Given the description of an element on the screen output the (x, y) to click on. 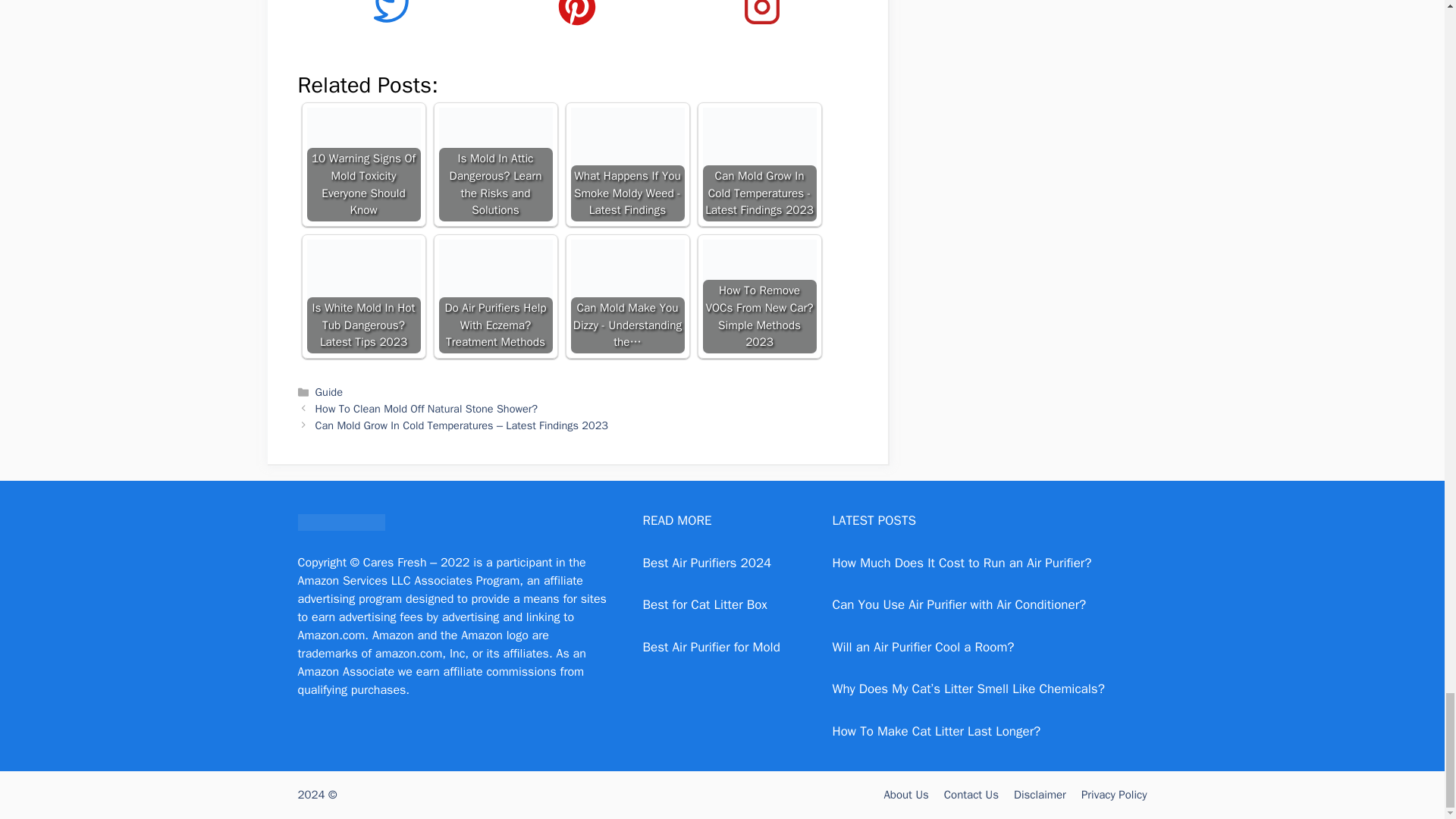
Is White Mold In Hot Tub Dangerous? Latest Tips 2023 (362, 295)
Can Mold Grow In Cold Temperatures - Latest Findings 2023 (758, 164)
What Happens If You Smoke Moldy Weed - Latest Findings (627, 164)
How To Remove VOCs From New Car? Simple Methods 2023 (758, 295)
Is Mold In Attic Dangerous? Learn the Risks and Solutions (494, 164)
Do Air Purifiers Help With Eczema? Treatment Methods (494, 295)
10 Warning Signs Of Mold Toxicity Everyone Should Know (362, 164)
